Given the description of an element on the screen output the (x, y) to click on. 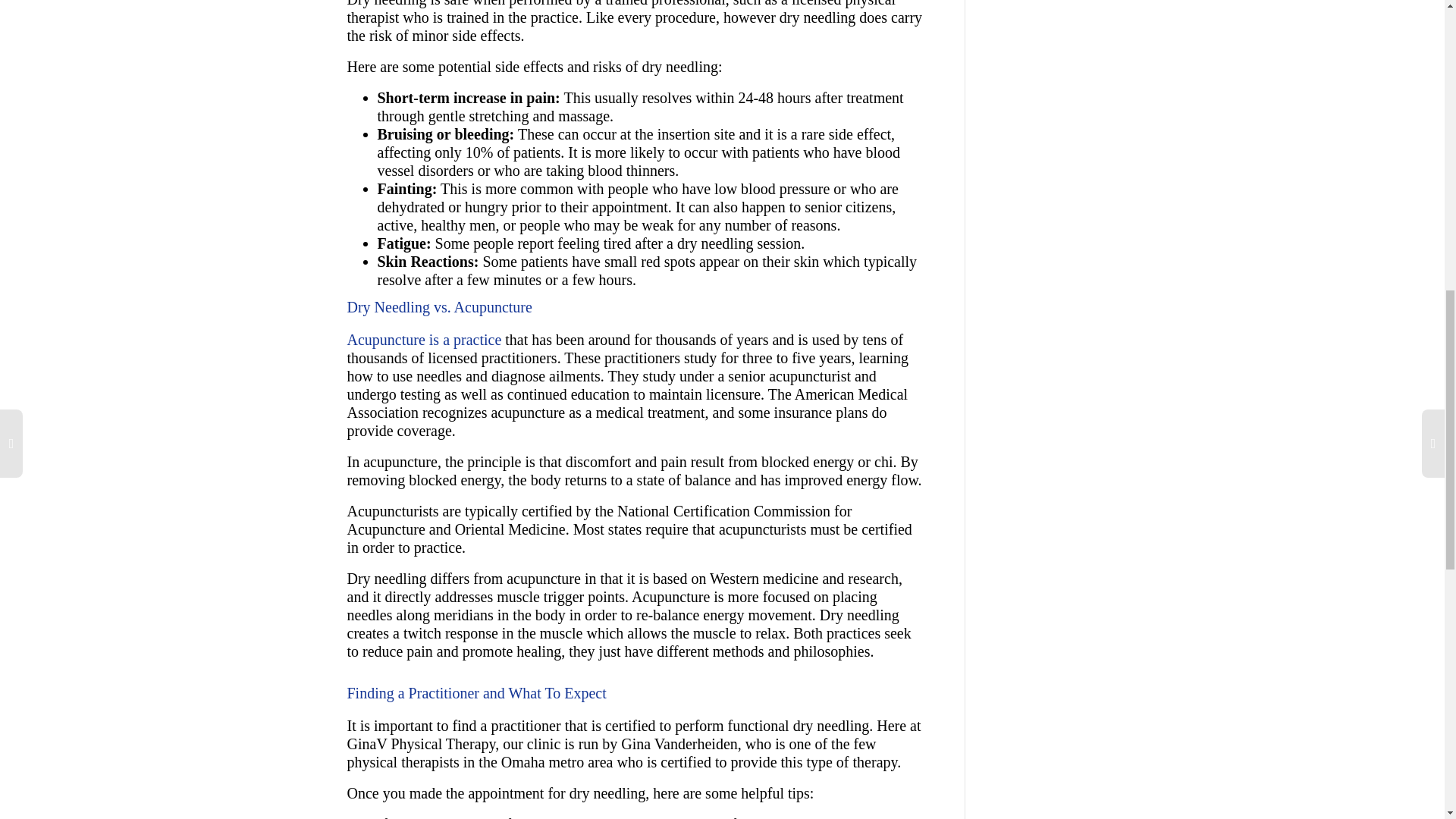
Acupuncture is a practice (424, 339)
